Given the description of an element on the screen output the (x, y) to click on. 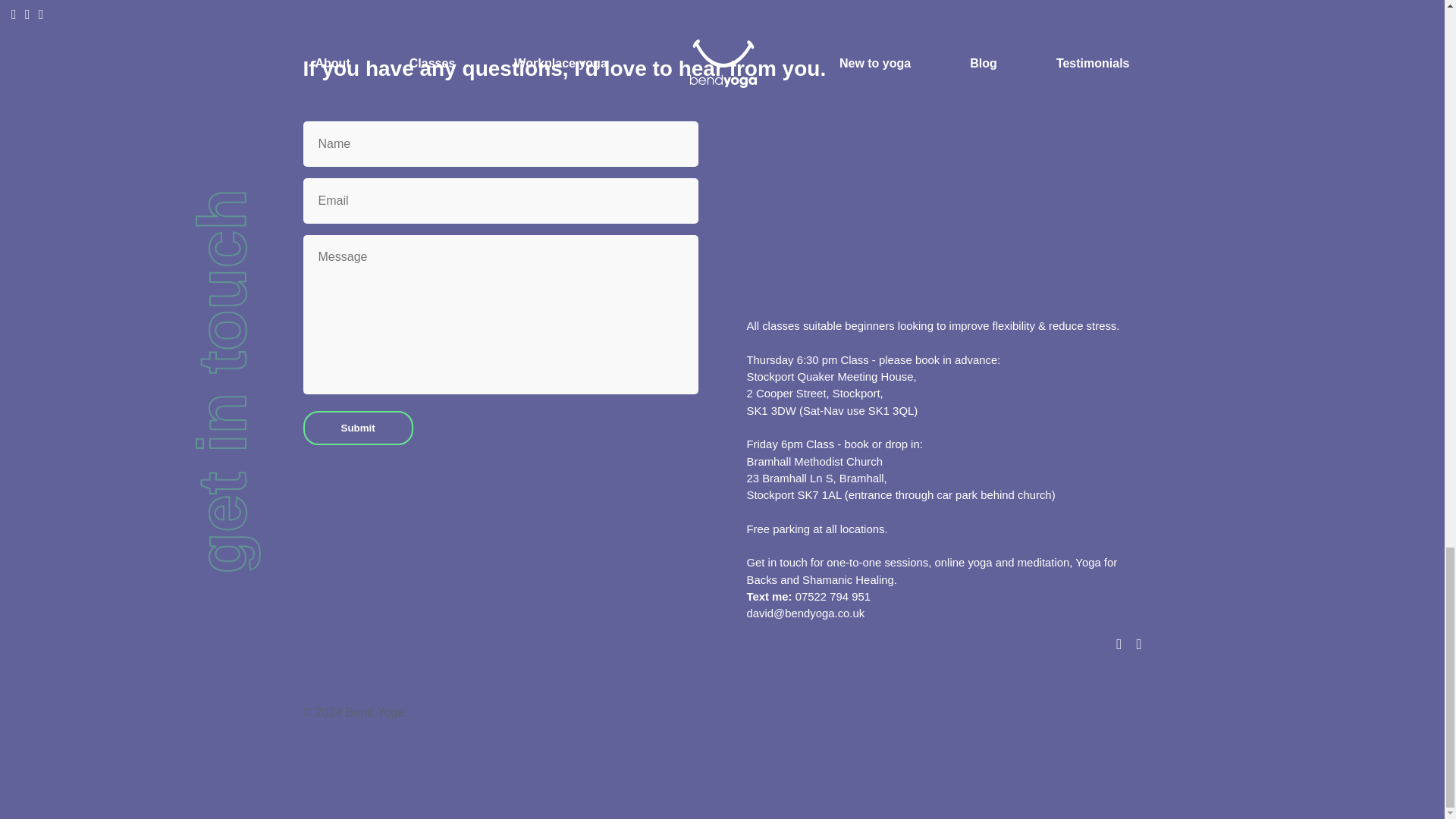
Submit (357, 428)
Text me: 07522 794 951 (807, 596)
Submit (357, 428)
